Given the description of an element on the screen output the (x, y) to click on. 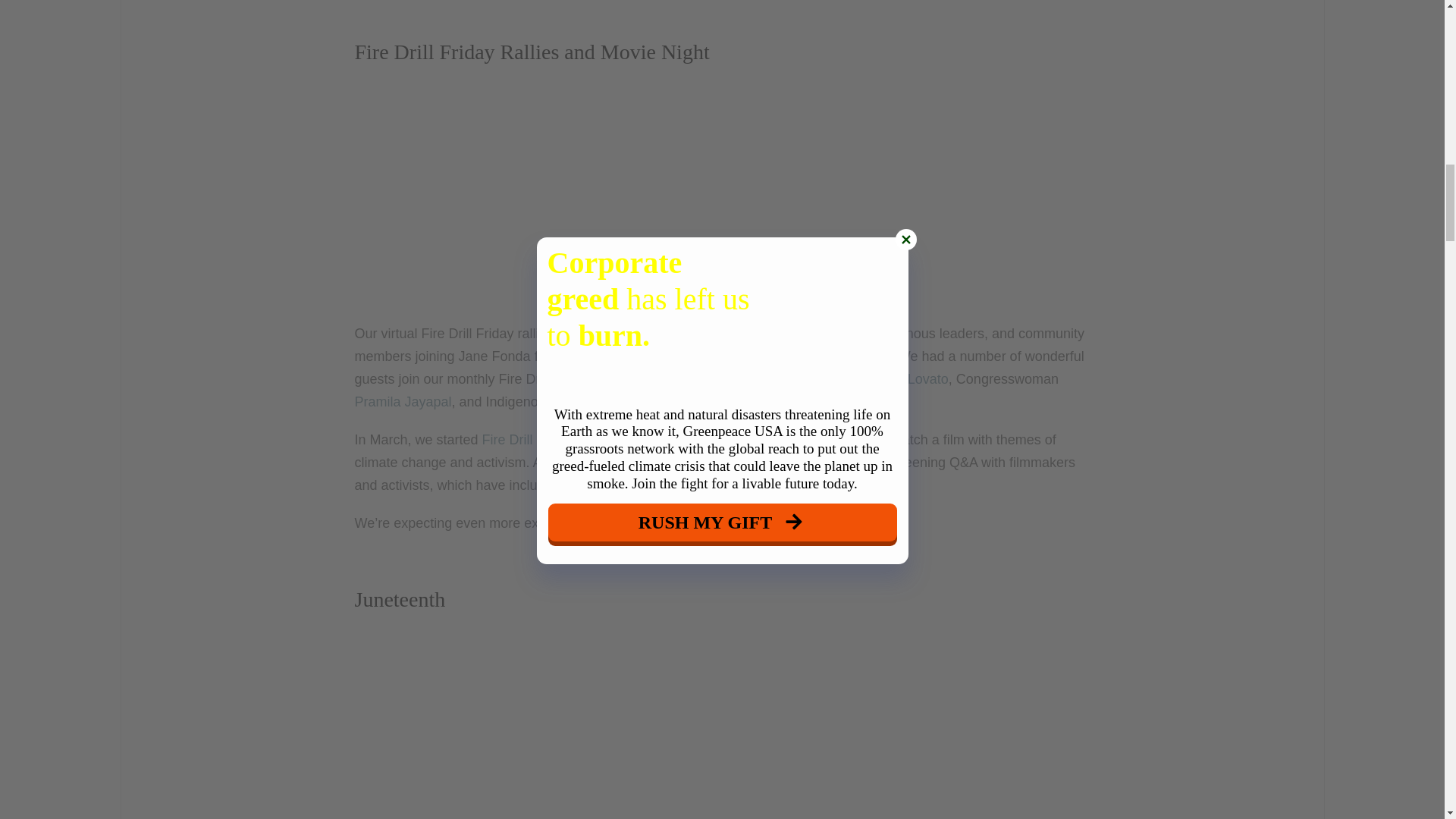
Fire Drill Friday Movie Nights (569, 439)
Tara Houska. (637, 401)
Pramila Jayapal (403, 401)
Demi Lovato (910, 378)
